Given the description of an element on the screen output the (x, y) to click on. 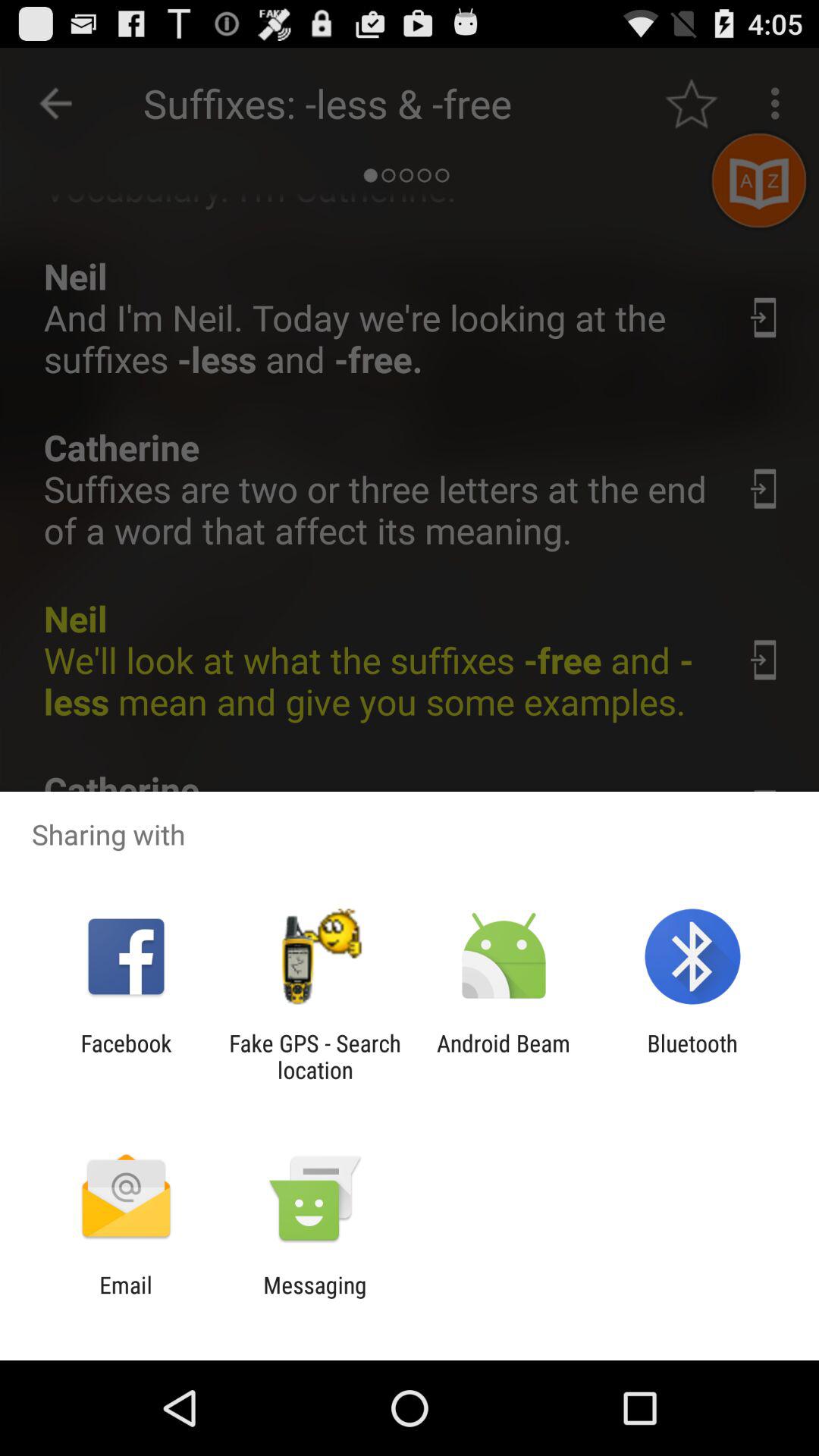
turn off the android beam item (503, 1056)
